Given the description of an element on the screen output the (x, y) to click on. 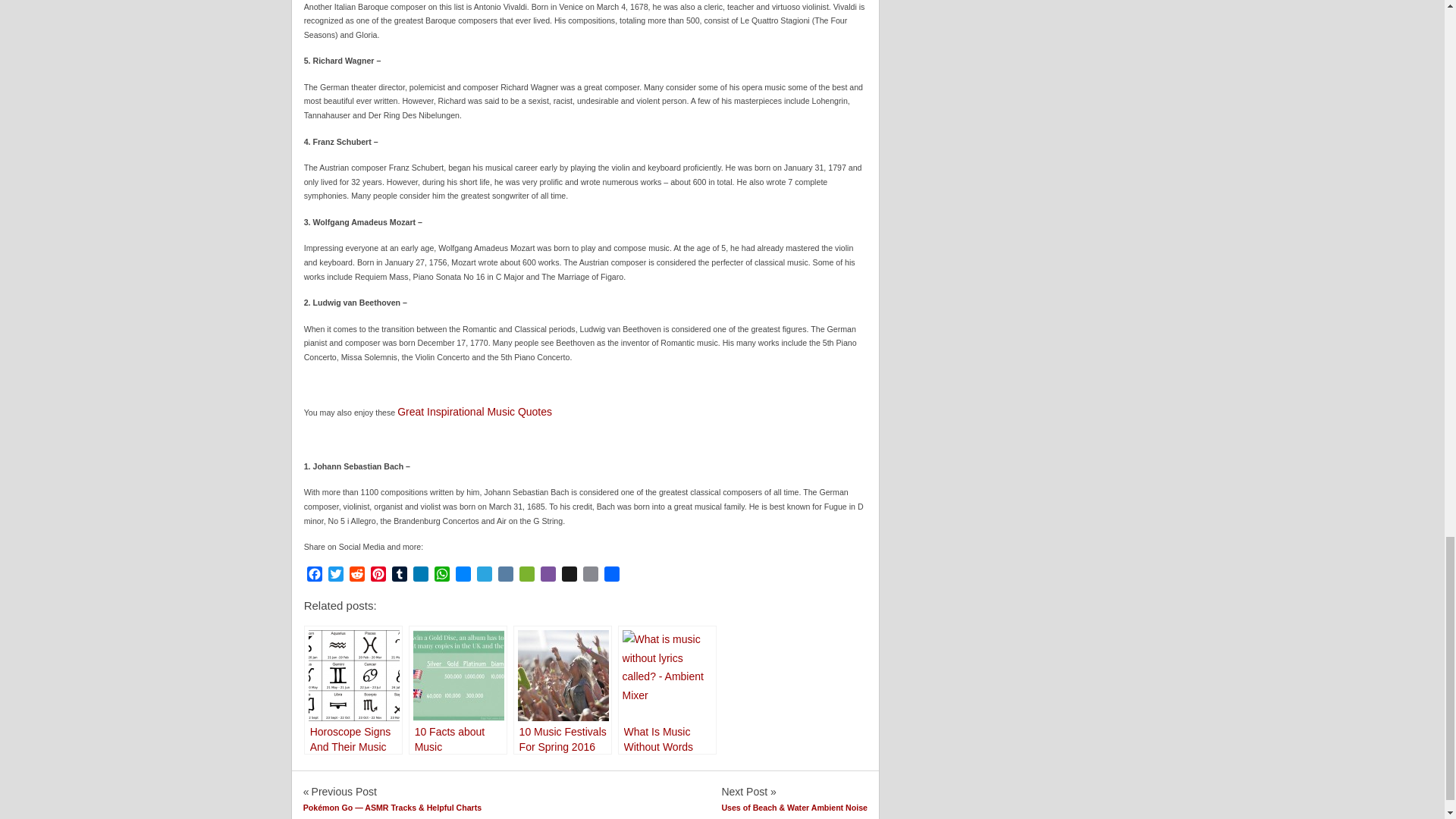
Pinterest (378, 575)
Viber (548, 575)
Messenger (463, 575)
Great Inspirational Music Quotes (474, 411)
Tumblr (399, 575)
Twitter (335, 575)
Viber (548, 575)
WeChat (526, 575)
Telegram (484, 575)
Email (590, 575)
Facebook (314, 575)
Share (612, 575)
Facebook (314, 575)
Tumblr (399, 575)
Buffer (569, 575)
